Given the description of an element on the screen output the (x, y) to click on. 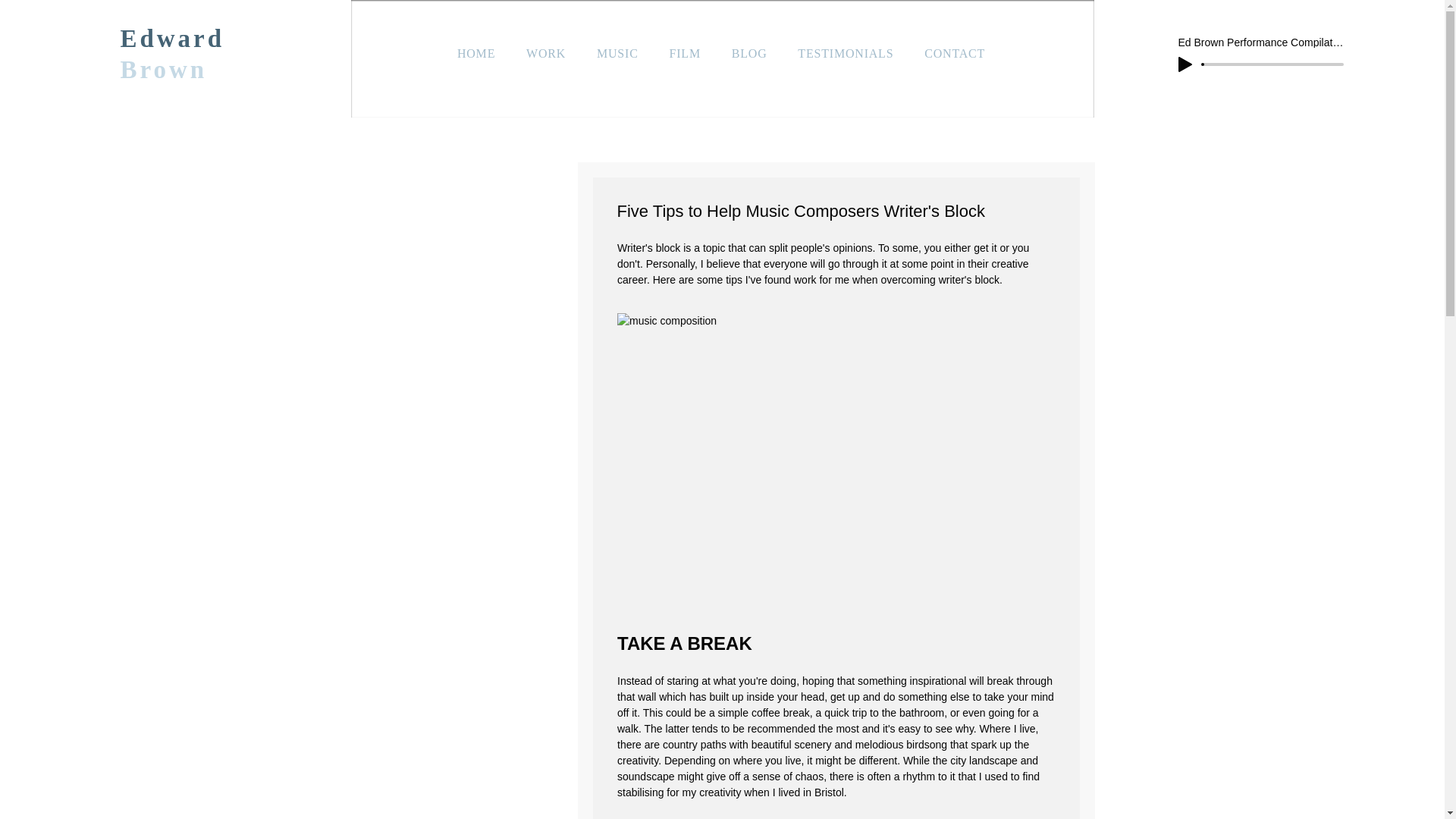
MUSIC (617, 53)
TESTIMONIALS (845, 53)
HOME (475, 53)
0 (1272, 64)
WORK (545, 53)
FILM (684, 53)
CONTACT (954, 53)
BLOG (748, 53)
